Given the description of an element on the screen output the (x, y) to click on. 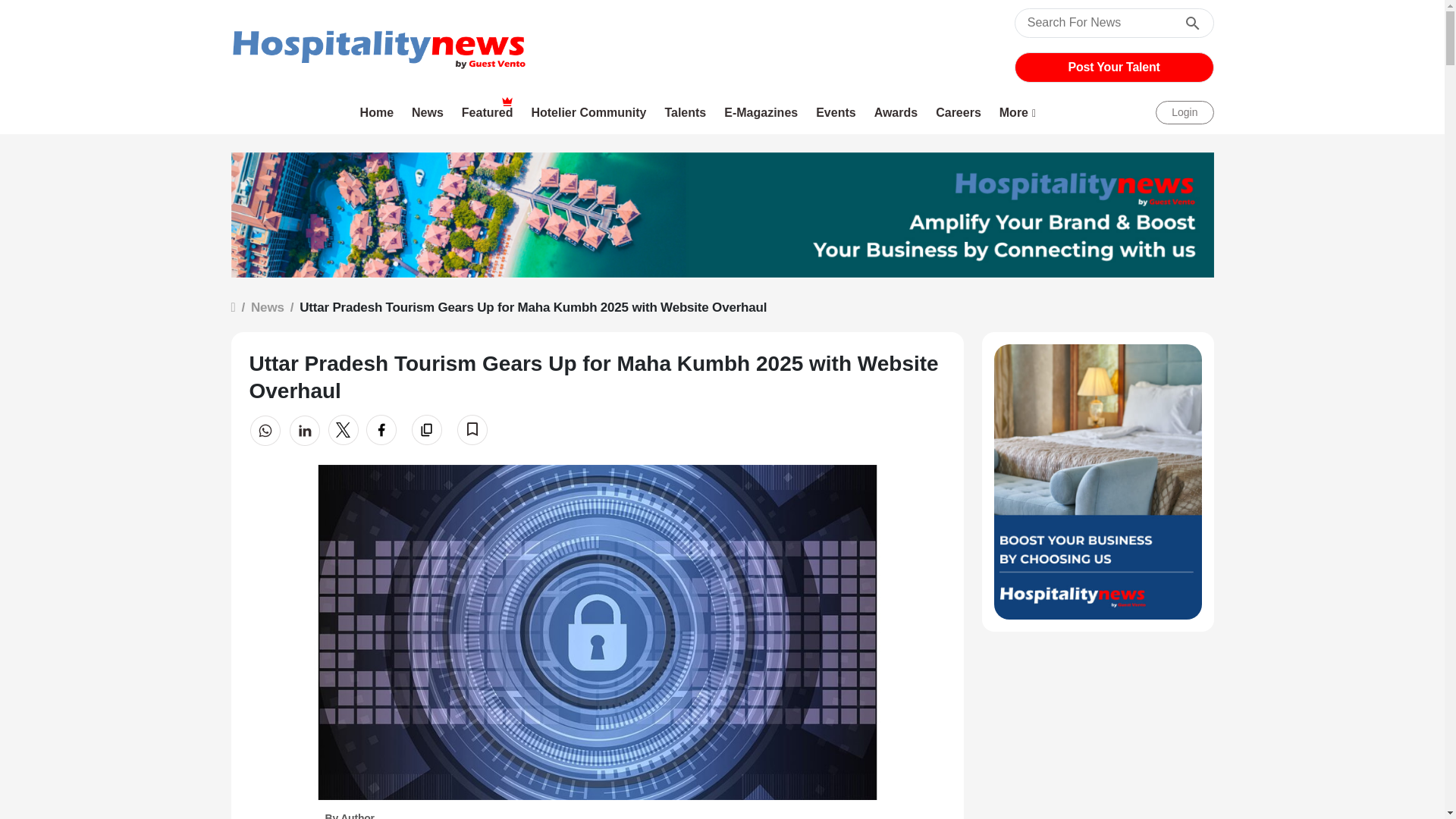
News (427, 112)
Home (378, 112)
Post Your Talent (1114, 67)
